Given the description of an element on the screen output the (x, y) to click on. 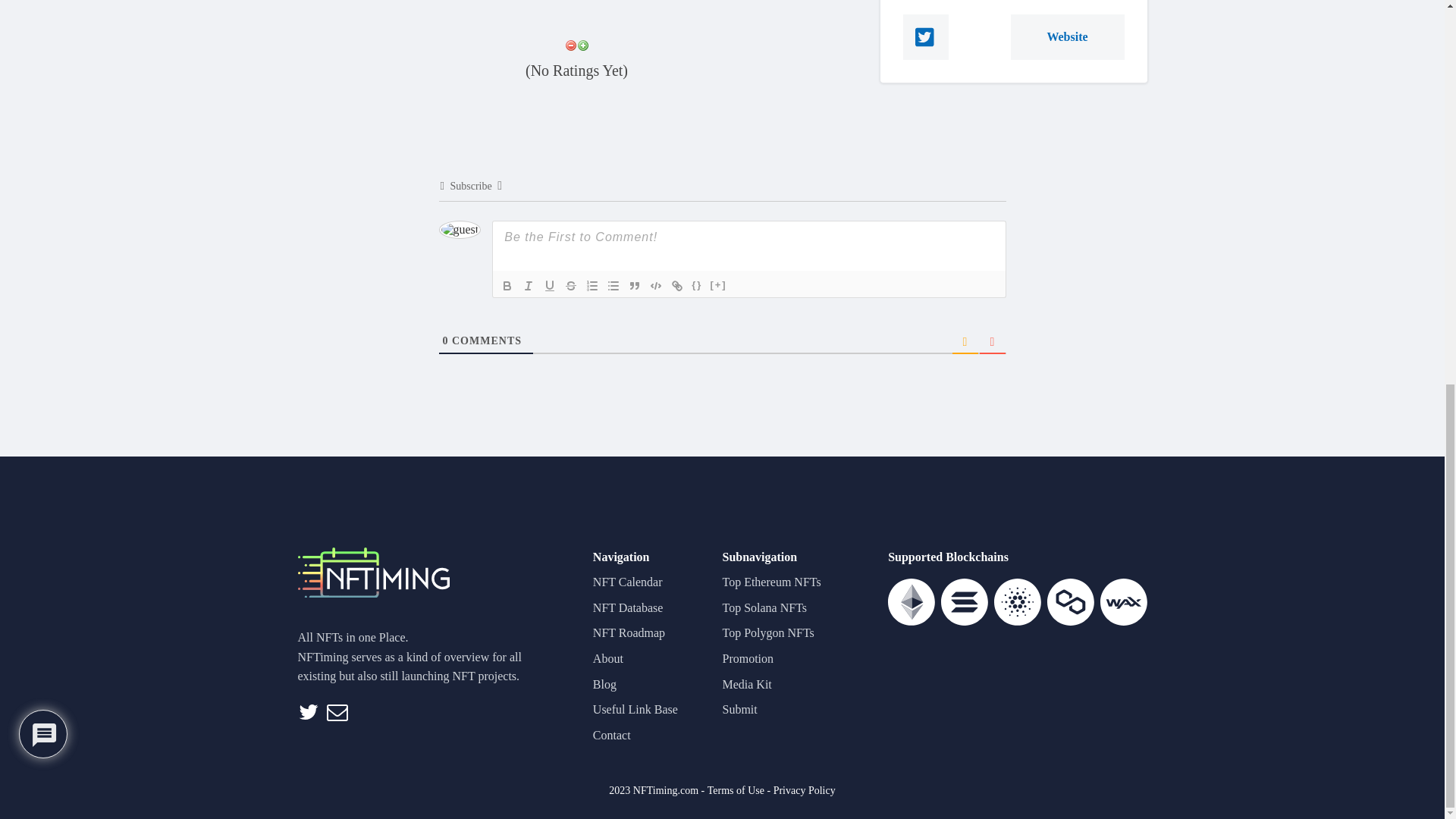
Blockquote (634, 285)
Italic (528, 285)
Vote Down (570, 45)
Bold (507, 285)
Source Code (696, 285)
Link (676, 285)
Code Block (655, 285)
Vote Up (582, 45)
Unordered List (613, 285)
Strike (570, 285)
Spoiler (718, 285)
Underline (549, 285)
Ordered List (591, 285)
